Given the description of an element on the screen output the (x, y) to click on. 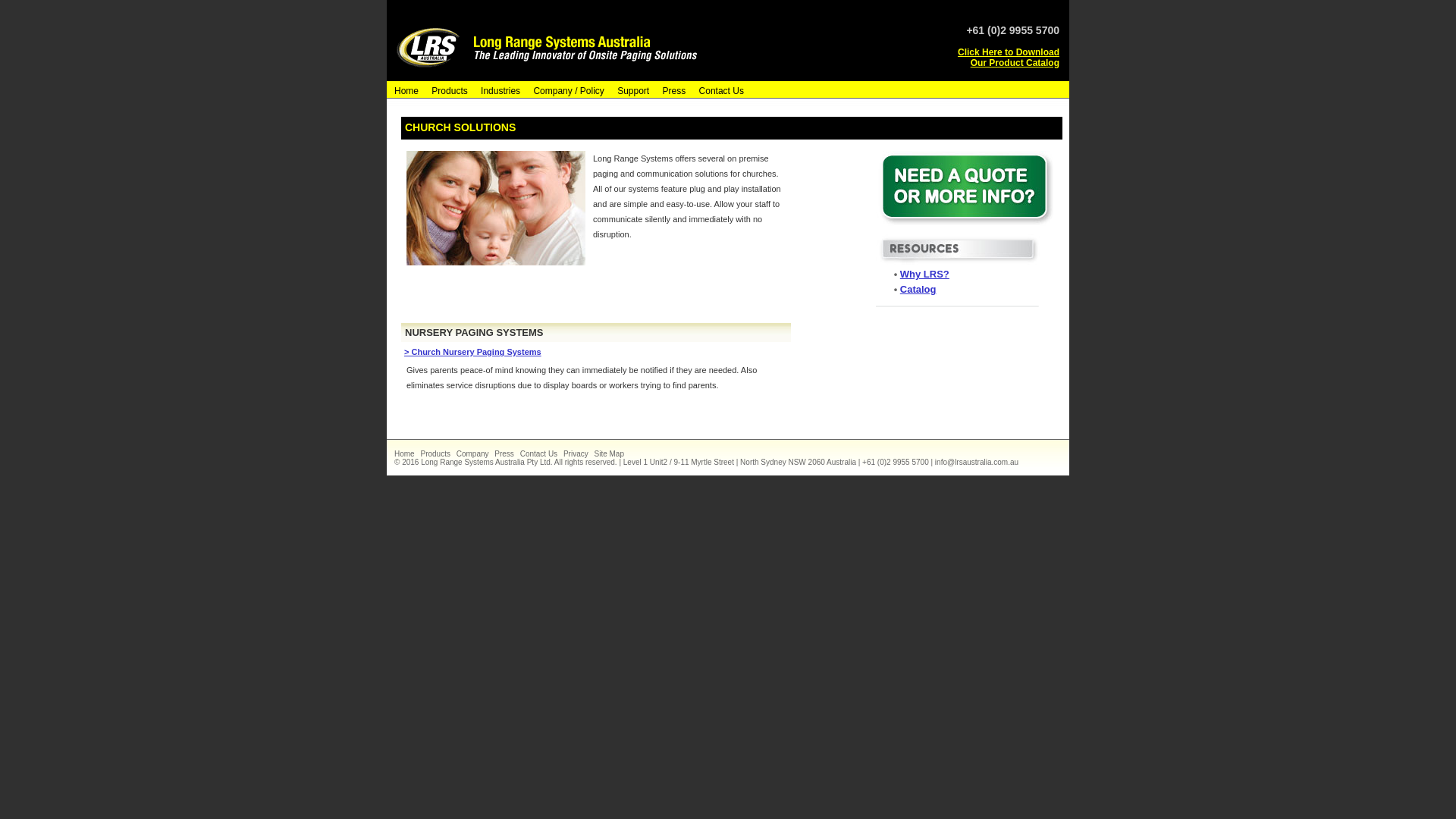
Home Element type: text (403, 89)
Company Element type: text (474, 452)
Contact Us Element type: text (540, 452)
> Church Nursery Paging Systems Element type: text (472, 351)
Catalog Element type: text (918, 288)
Industries Element type: text (498, 89)
Press Element type: text (505, 452)
Products Element type: text (436, 452)
Home Element type: text (406, 452)
Why LRS? Element type: text (924, 273)
Contact Us Element type: text (718, 89)
Privacy Element type: text (577, 452)
Company / Policy Element type: text (565, 89)
Support Element type: text (630, 89)
Site Map Element type: text (610, 452)
Click Here to Download
Our Product Catalog Element type: text (1008, 57)
info@lrsaustralia.com.au Element type: text (978, 461)
Press Element type: text (672, 89)
Products Element type: text (446, 89)
